Given the description of an element on the screen output the (x, y) to click on. 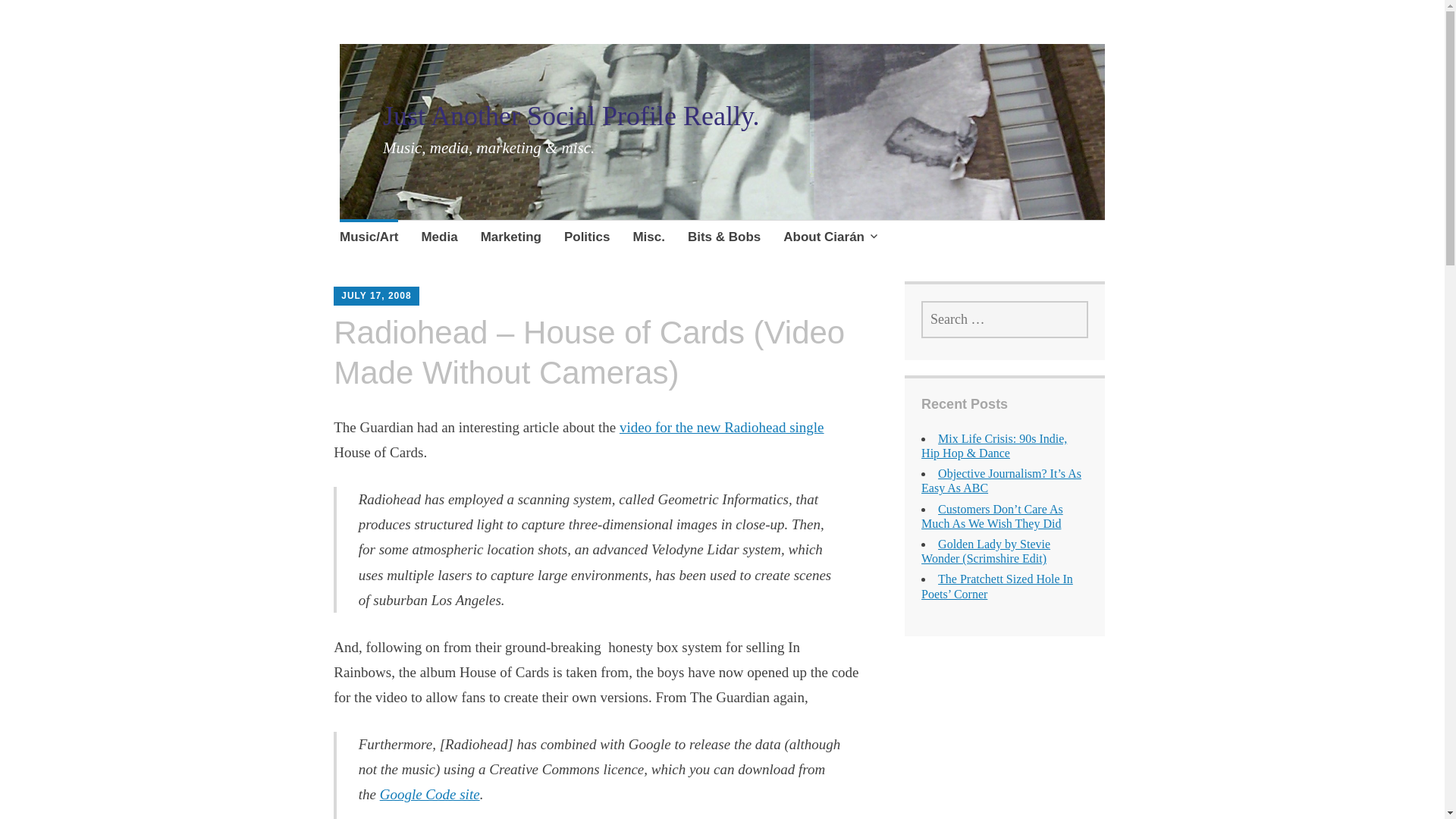
Media (438, 238)
Just Another Social Profile Really. (571, 115)
Politics (587, 238)
Google Code site (430, 794)
video for the new Radiohead single (722, 426)
Marketing (510, 238)
JULY 17, 2008 (375, 295)
